Given the description of an element on the screen output the (x, y) to click on. 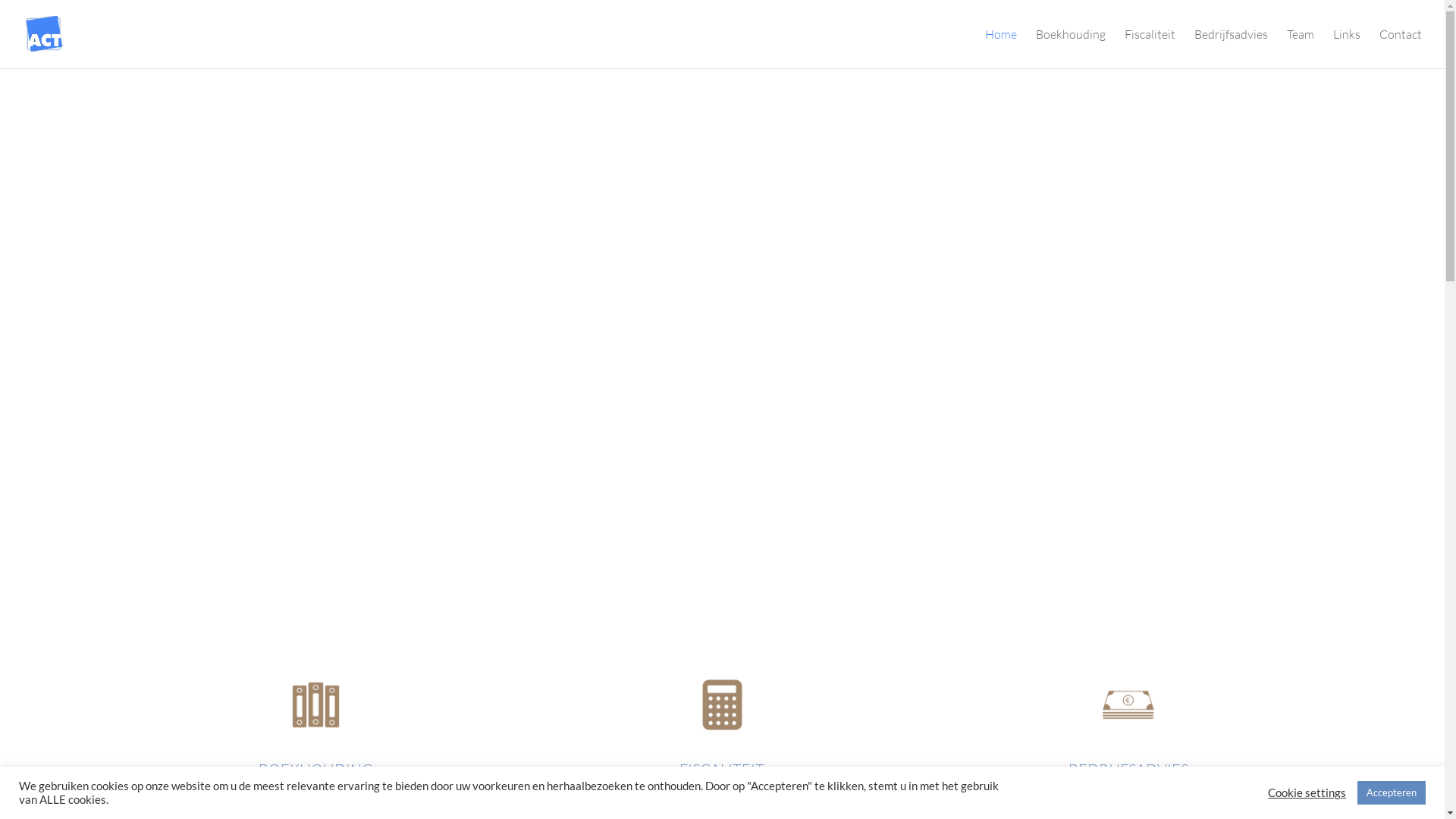
Cookie settings Element type: text (1306, 792)
icoon-fiscaliteit Element type: hover (722, 705)
Accepteren Element type: text (1391, 792)
icoon-boekhouding Element type: hover (316, 705)
icoon-bedrijfsadvies Element type: hover (1128, 705)
Bedrijfsadvies Element type: text (1230, 48)
Home Element type: text (1000, 48)
Contact Element type: text (1400, 48)
Links Element type: text (1346, 48)
Team Element type: text (1300, 48)
Fiscaliteit Element type: text (1149, 48)
Boekhouding Element type: text (1070, 48)
